Given the description of an element on the screen output the (x, y) to click on. 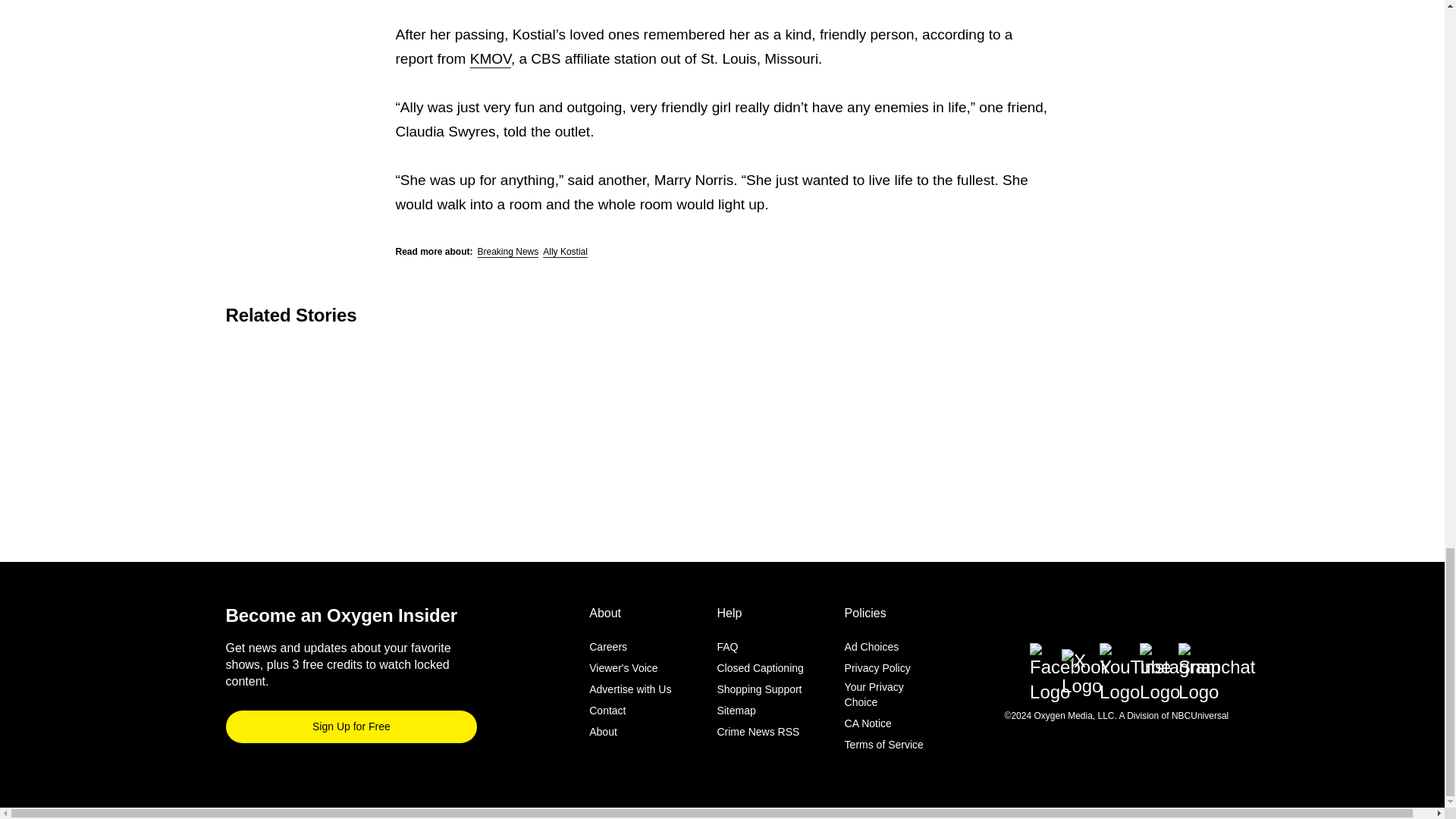
Ally Kostial (565, 251)
Advertise with Us (630, 689)
Breaking News (507, 251)
KMOV (490, 58)
